Given the description of an element on the screen output the (x, y) to click on. 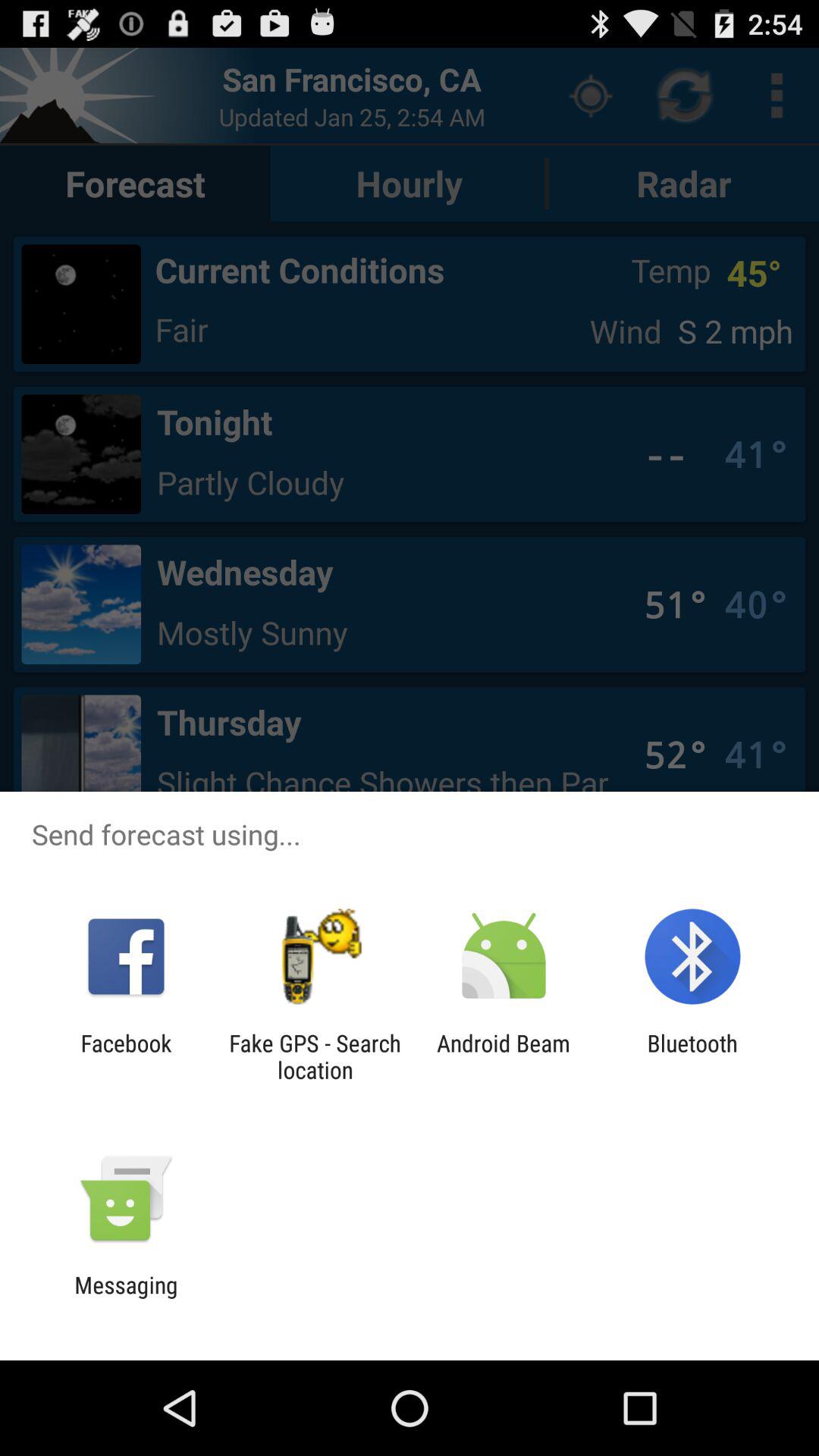
launch the icon to the right of fake gps search icon (503, 1056)
